Given the description of an element on the screen output the (x, y) to click on. 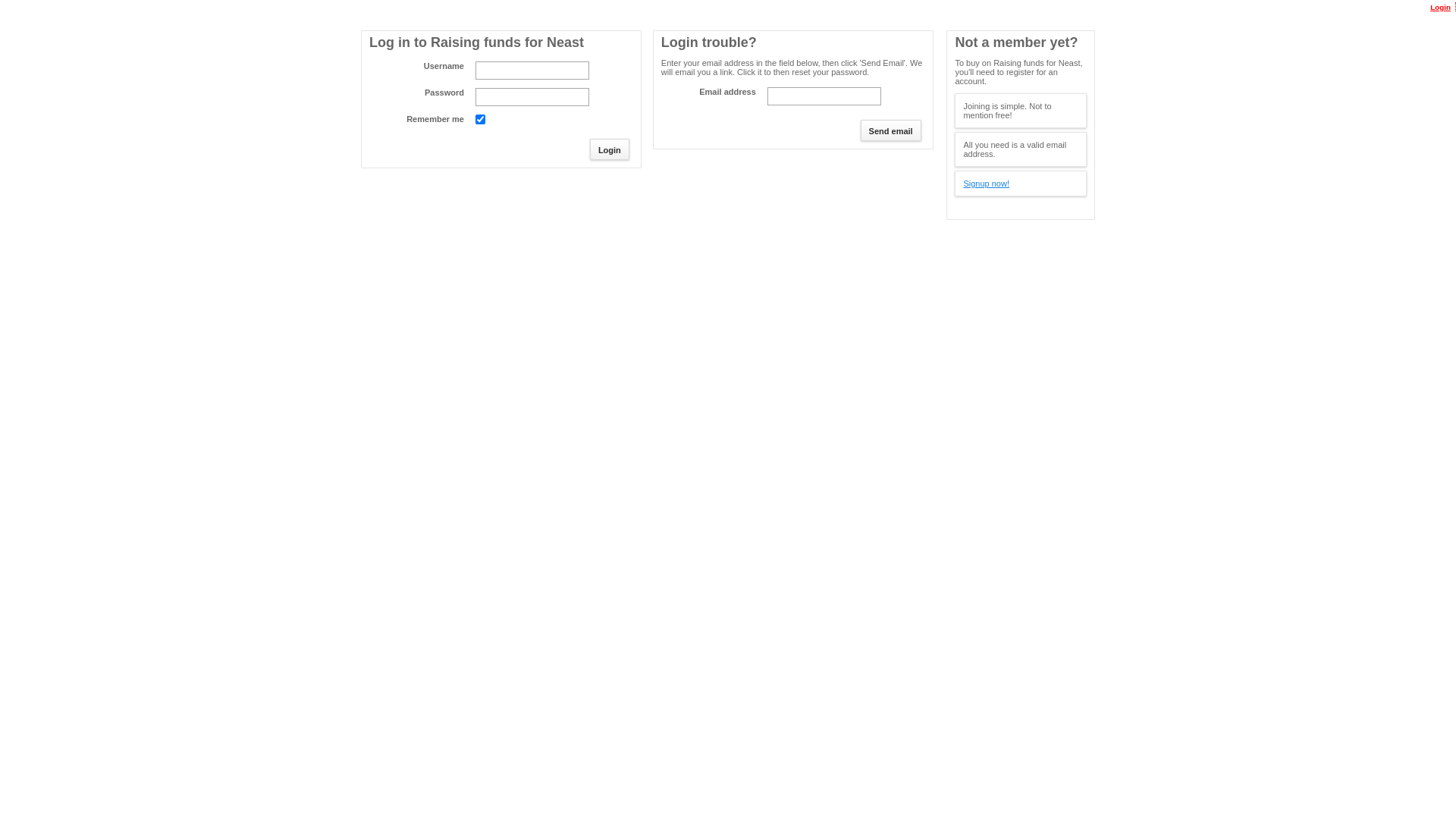
Signup now! Element type: text (986, 183)
Login Element type: text (609, 149)
Send email Element type: text (890, 130)
Login Element type: text (1433, 6)
